Given the description of an element on the screen output the (x, y) to click on. 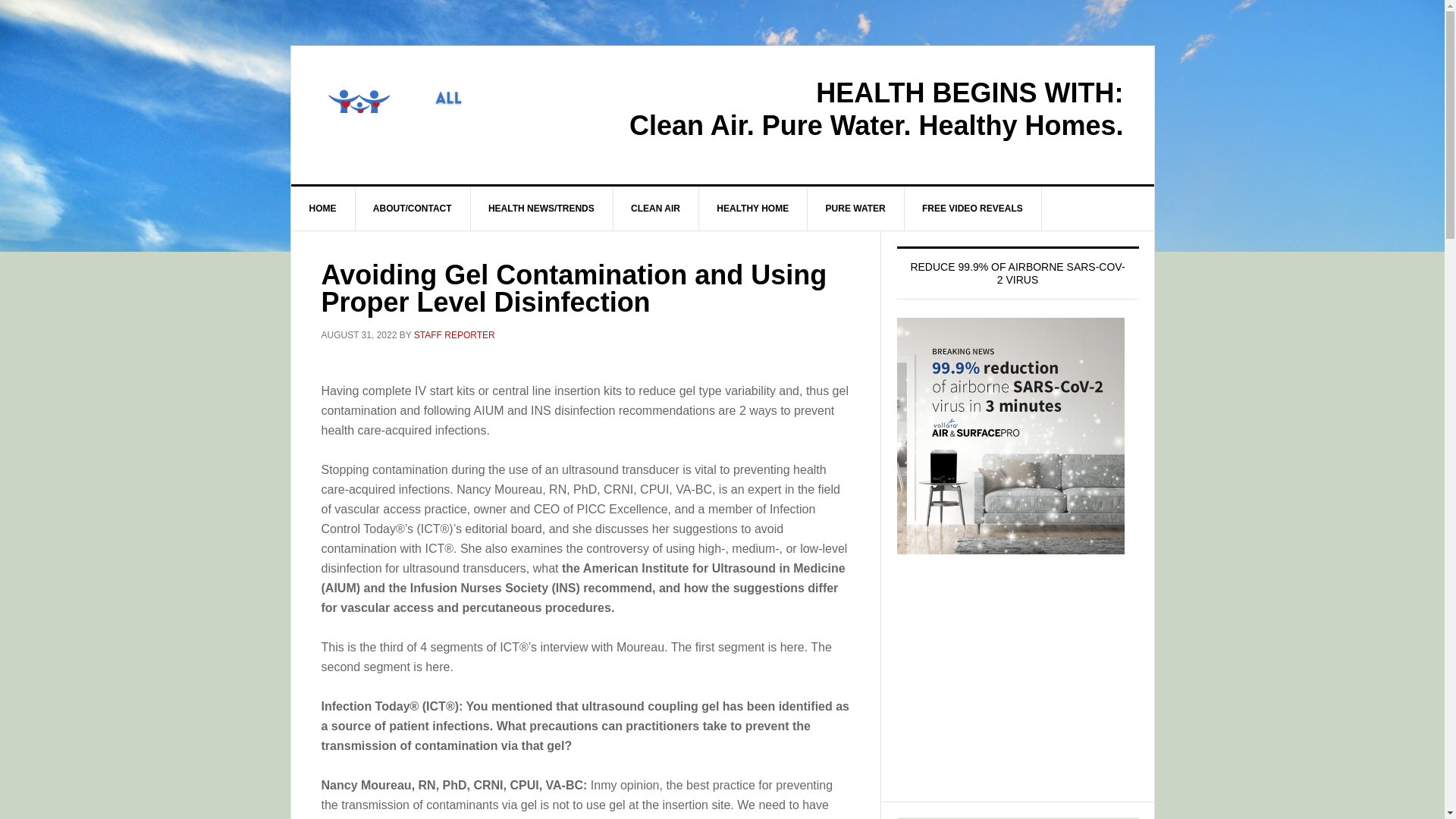
FREE VIDEO REVEALS (973, 208)
STAFF REPORTER (454, 335)
PURE WATER (856, 208)
ALL HEALTHY NEWS (419, 110)
HOME (323, 208)
CLEAN AIR (655, 208)
HEALTHY HOME (753, 208)
Advertisement (1017, 691)
